Given the description of an element on the screen output the (x, y) to click on. 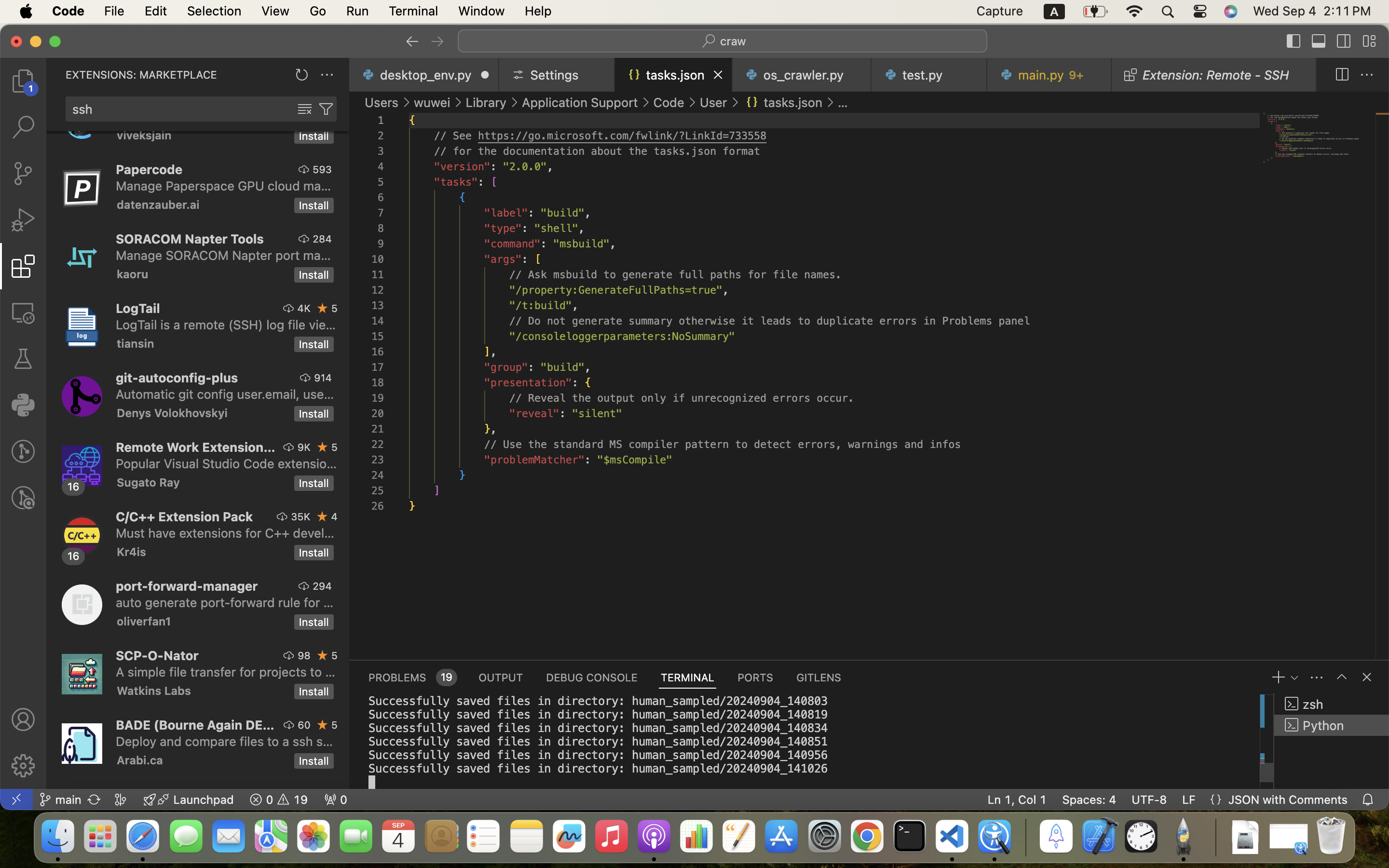
 Element type: AXButton (304, 108)
tasks.json  Element type: AXGroup (782, 101)
98 Element type: AXStaticText (304, 655)
0 DEBUG CONSOLE Element type: AXRadioButton (591, 676)
Automatic git config user.email, user.name, SSH key setting for vscode Element type: AXStaticText (224, 393)
